Given the description of an element on the screen output the (x, y) to click on. 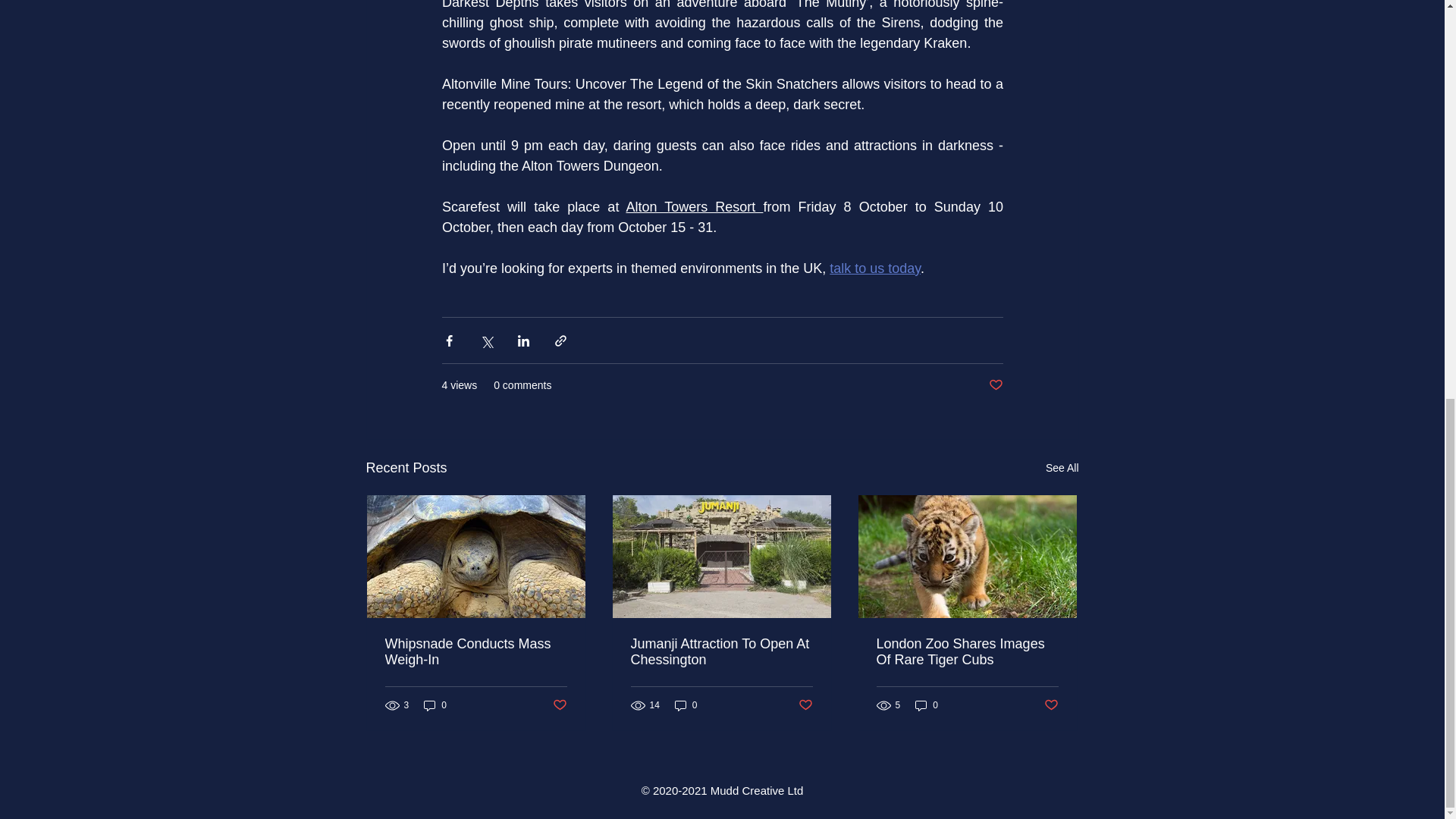
London Zoo Shares Images Of Rare Tiger Cubs (967, 652)
Whipsnade Conducts Mass Weigh-In (476, 652)
Jumanji Attraction To Open At Chessington (721, 652)
Post not marked as liked (995, 385)
Post not marked as liked (558, 705)
Post not marked as liked (1050, 705)
0 (926, 705)
0 (435, 705)
talk to us today (874, 268)
Post not marked as liked (804, 705)
0 (685, 705)
See All (1061, 468)
